Given the description of an element on the screen output the (x, y) to click on. 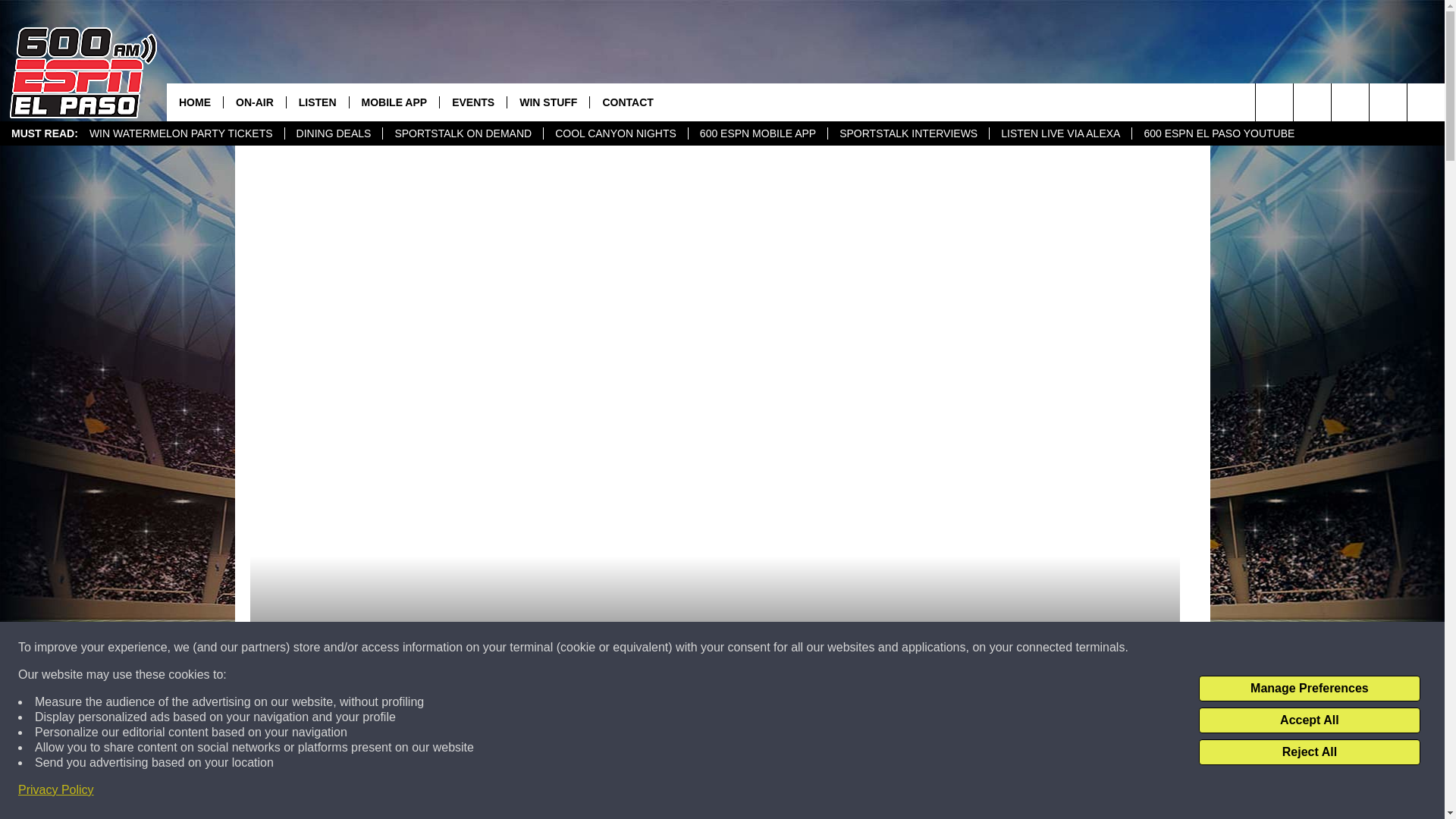
Share on Facebook (517, 791)
SPORTSTALK INTERVIEWS (907, 133)
LISTEN (317, 102)
SPORTSTALK ON DEMAND (462, 133)
Accept All (1309, 720)
DINING DEALS (332, 133)
CONTACT (627, 102)
HOME (194, 102)
EVENTS (472, 102)
WIN WATERMELON PARTY TICKETS (180, 133)
600 ESPN MOBILE APP (757, 133)
Manage Preferences (1309, 688)
WIN STUFF (547, 102)
ON-AIR (253, 102)
Share on Twitter (912, 791)
